Given the description of an element on the screen output the (x, y) to click on. 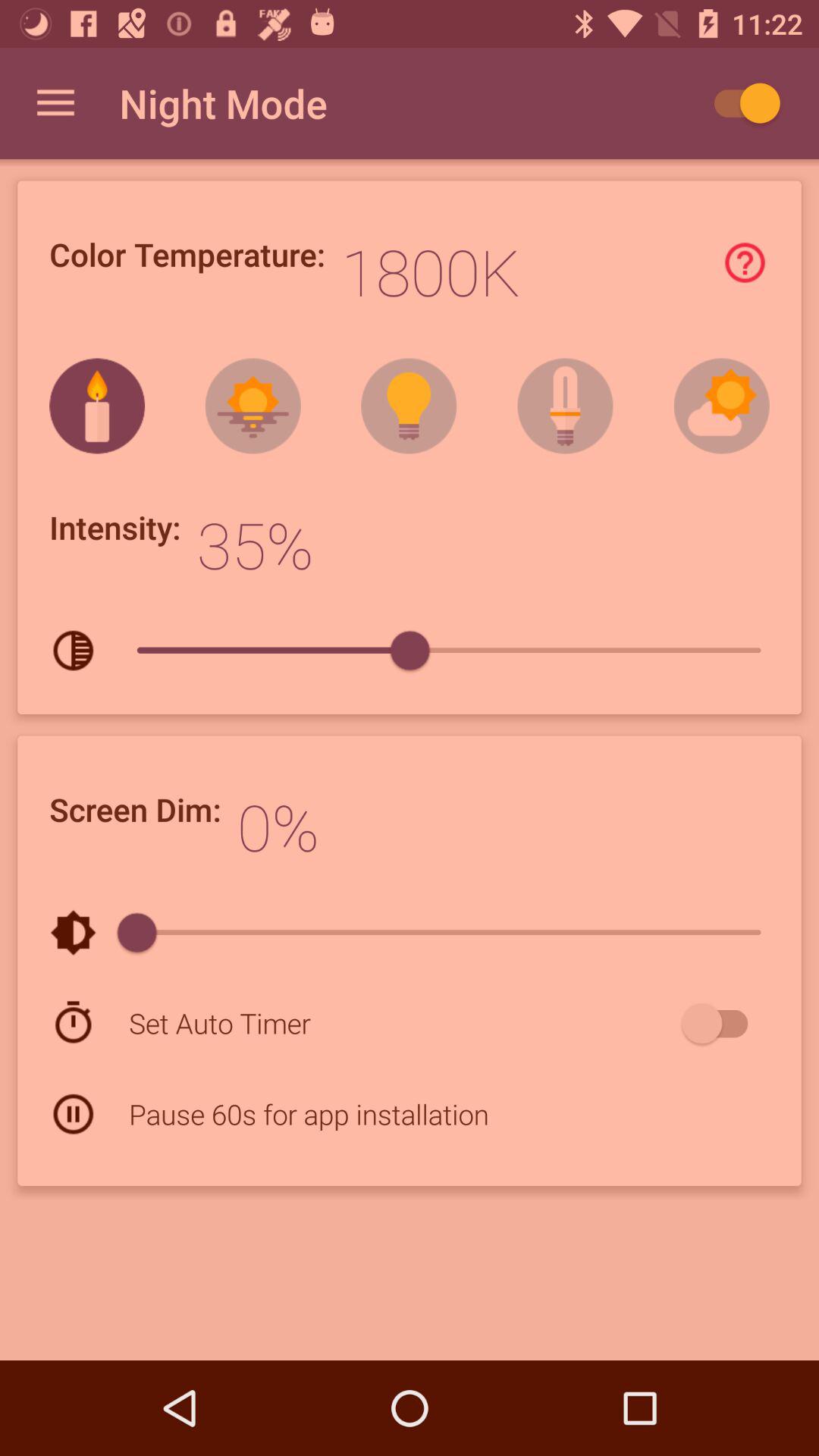
flip to the set auto timer icon (402, 1022)
